Given the description of an element on the screen output the (x, y) to click on. 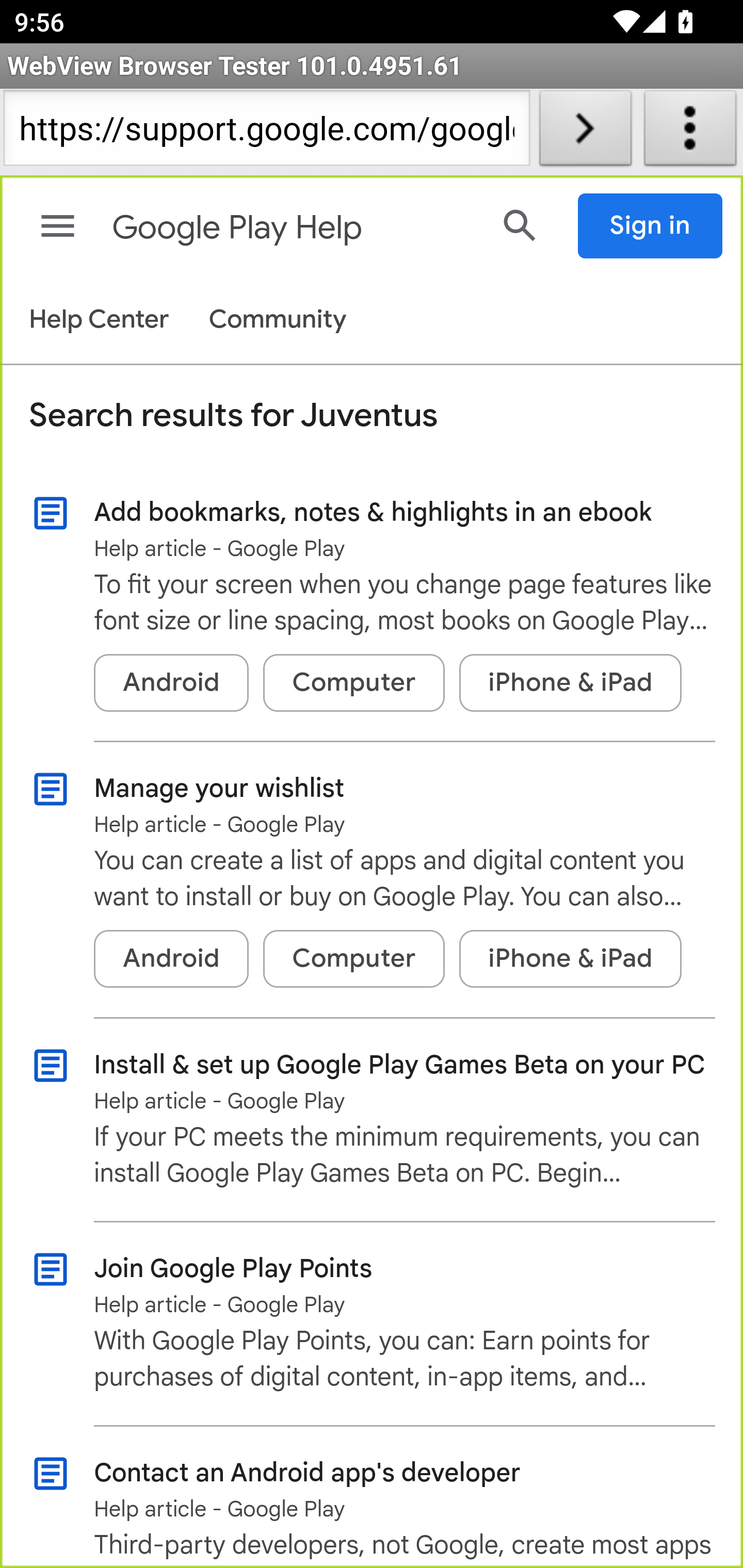
Load URL (585, 132)
About WebView (690, 132)
Main menu (58, 226)
Google Play Help (292, 227)
Search Help Center (519, 225)
Sign in (650, 226)
Help Center (98, 320)
Community (277, 320)
Android (170, 682)
Computer (353, 682)
iPhone & iPad (570, 682)
Android (170, 959)
Computer (353, 959)
iPhone & iPad (570, 959)
